Given the description of an element on the screen output the (x, y) to click on. 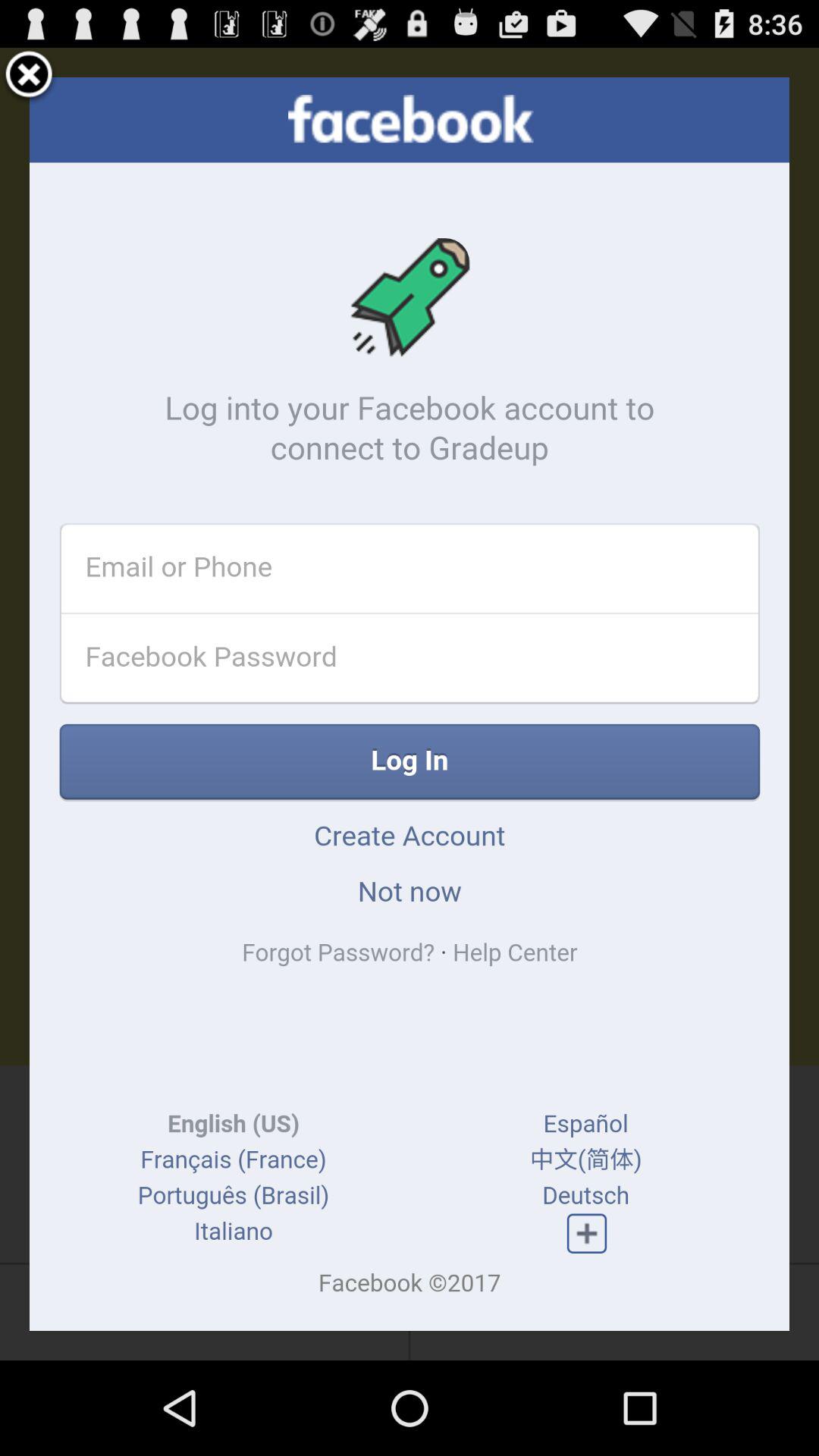
leave the facebook app (29, 76)
